Given the description of an element on the screen output the (x, y) to click on. 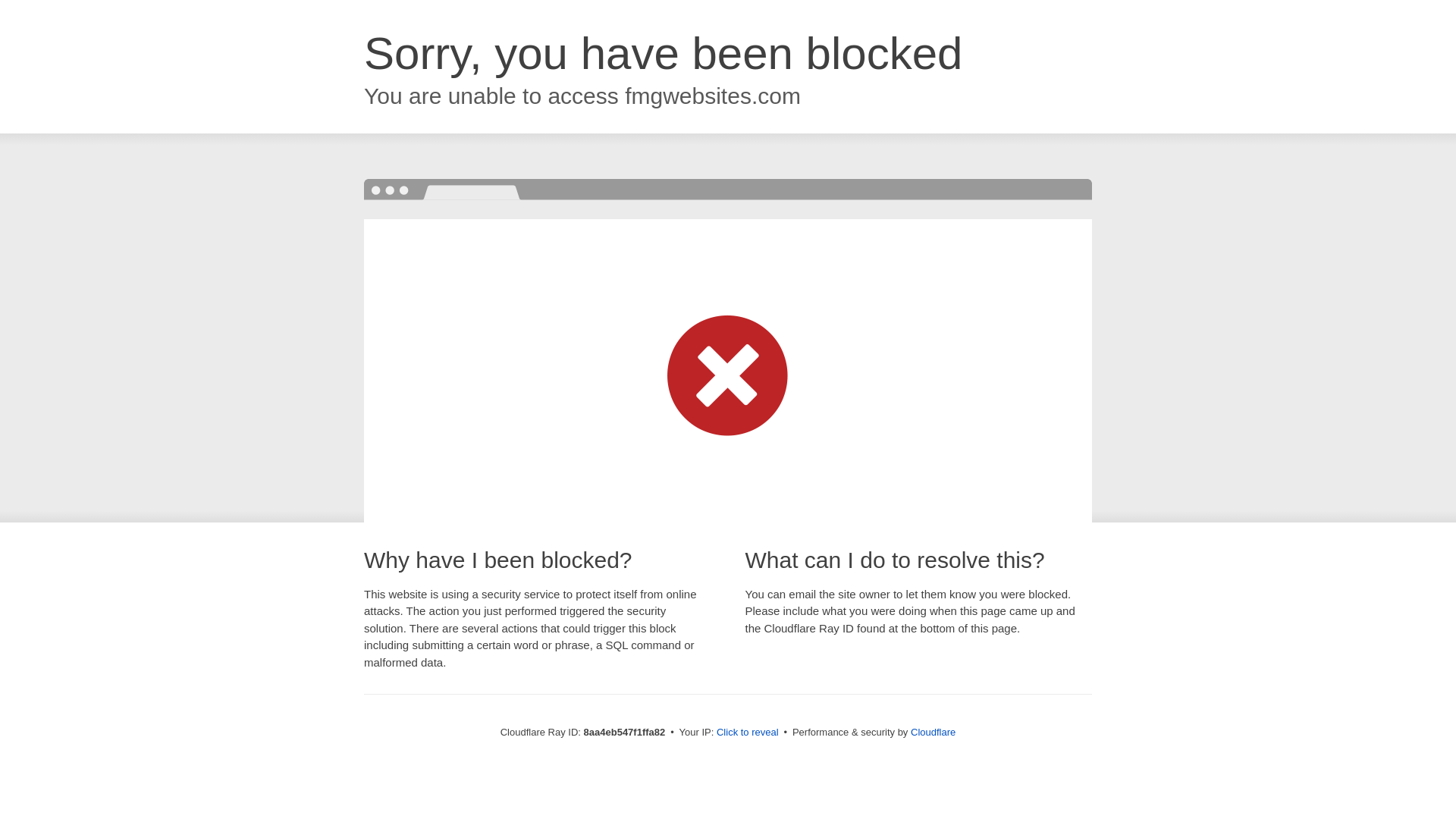
Click to reveal (747, 732)
Cloudflare (933, 731)
